Given the description of an element on the screen output the (x, y) to click on. 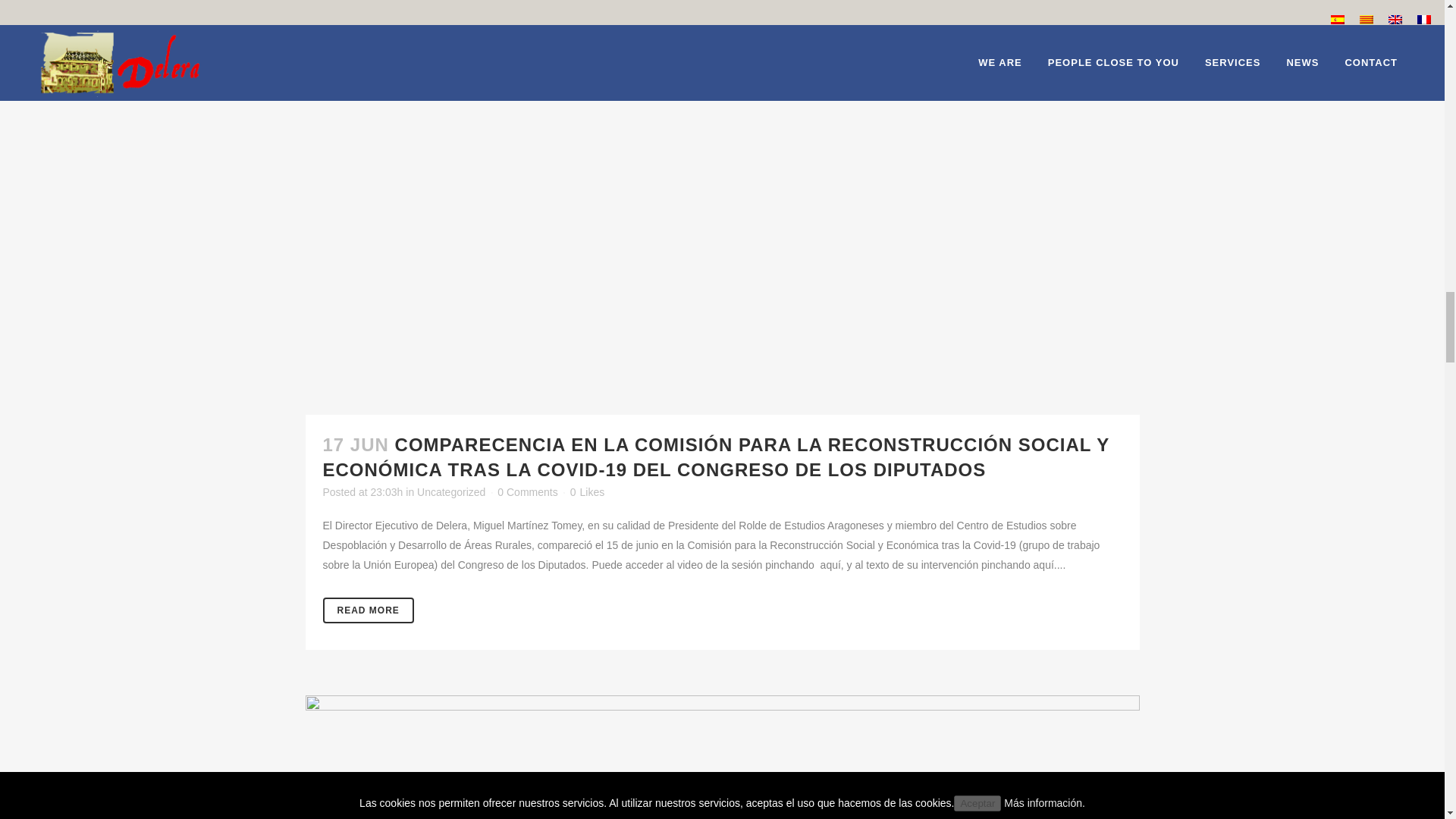
Like this (587, 491)
